Given the description of an element on the screen output the (x, y) to click on. 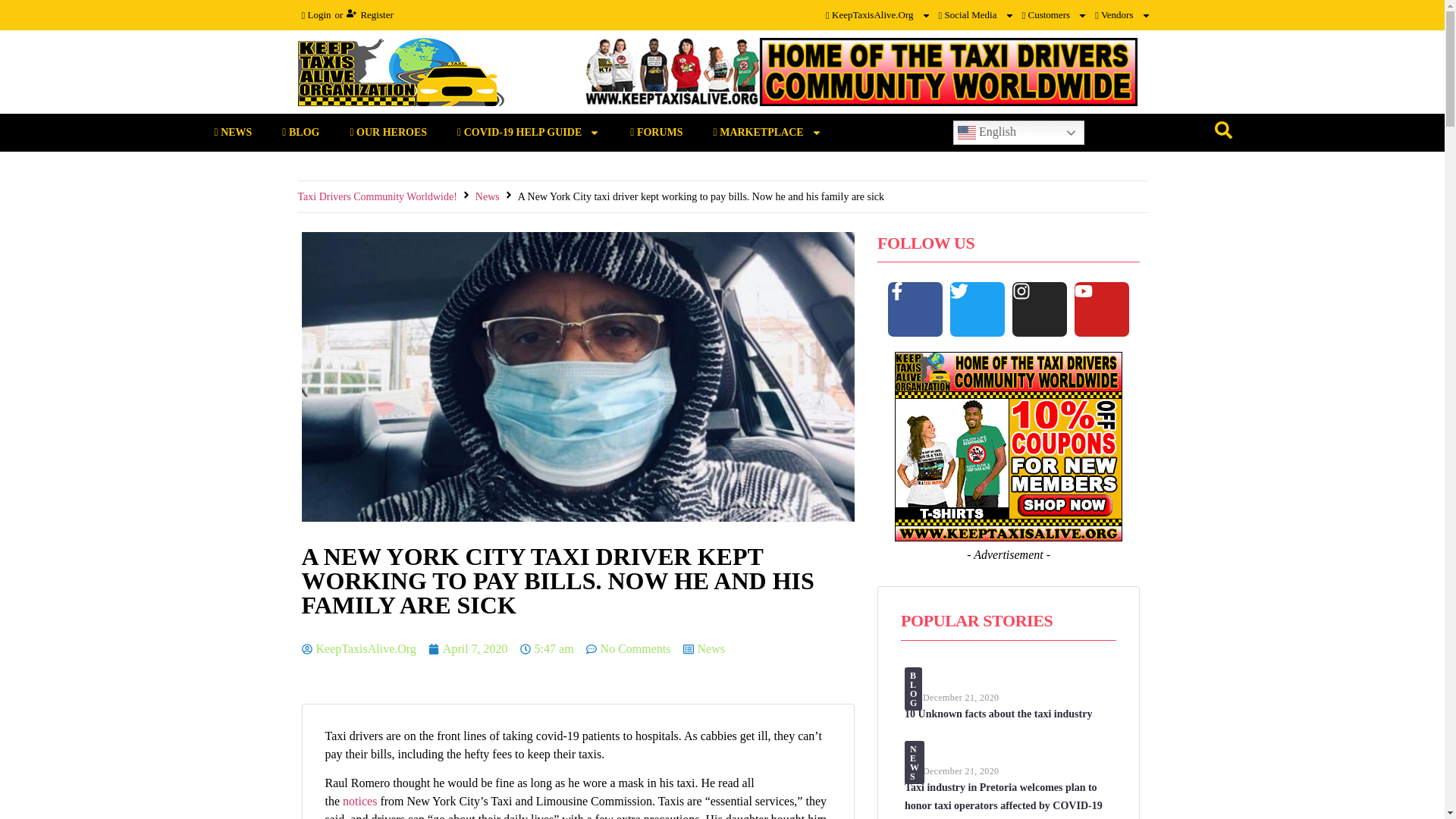
 Social Media (975, 14)
 KeepTaxisAlive.Org (878, 14)
 COVID-19 HELP GUIDE (528, 132)
Register (369, 14)
 BLOG (300, 132)
 NEWS (232, 132)
 OUR HEROES (388, 132)
 Vendors (1122, 14)
 Login (315, 14)
 Customers (1053, 14)
